Given the description of an element on the screen output the (x, y) to click on. 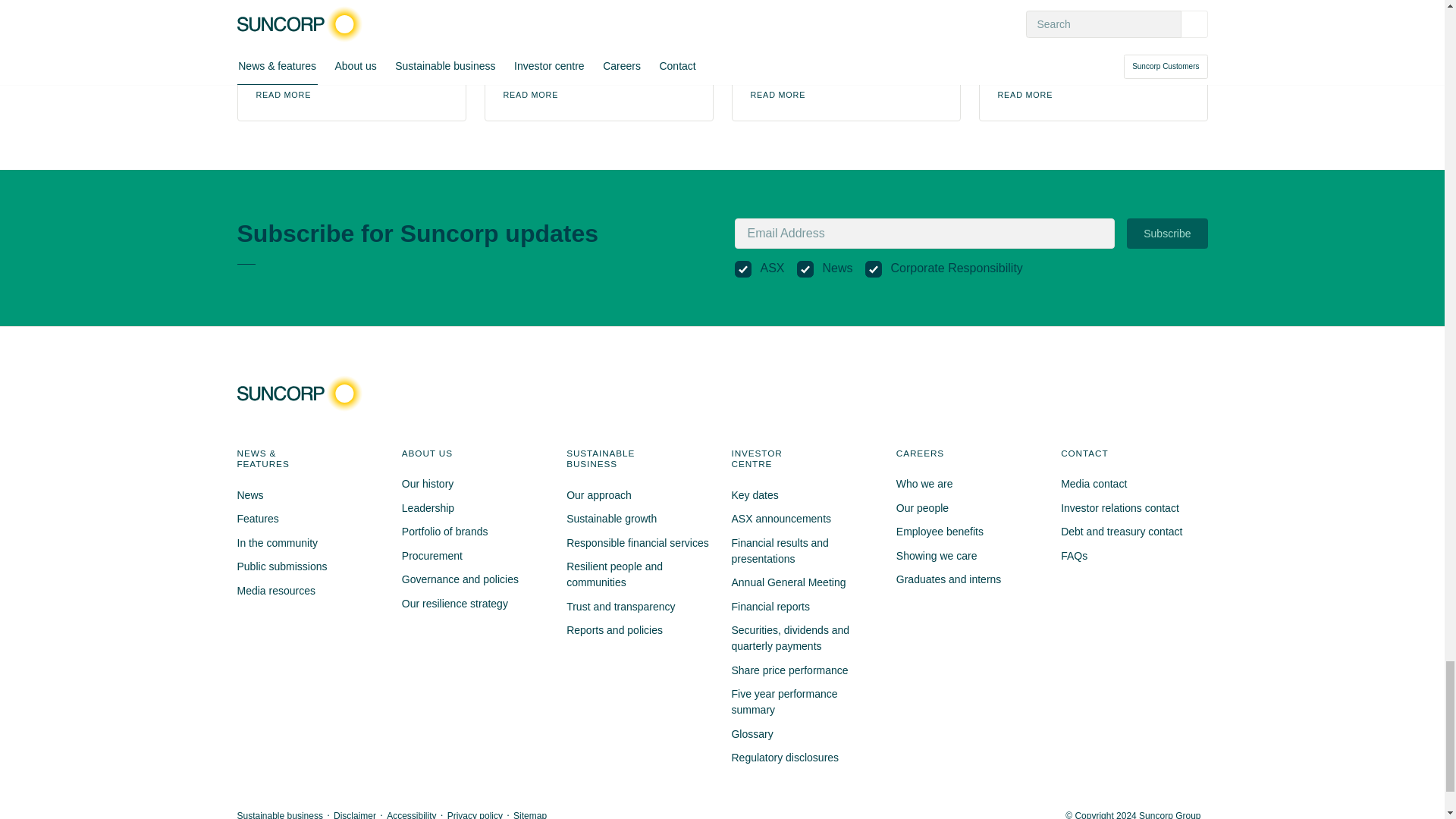
Link to linkedin (1158, 393)
Link to twitter (1131, 393)
Link to youtube (1185, 393)
Link to facebook (1104, 393)
Suncorp Group Logo - Link to homepage (302, 393)
